Given the description of an element on the screen output the (x, y) to click on. 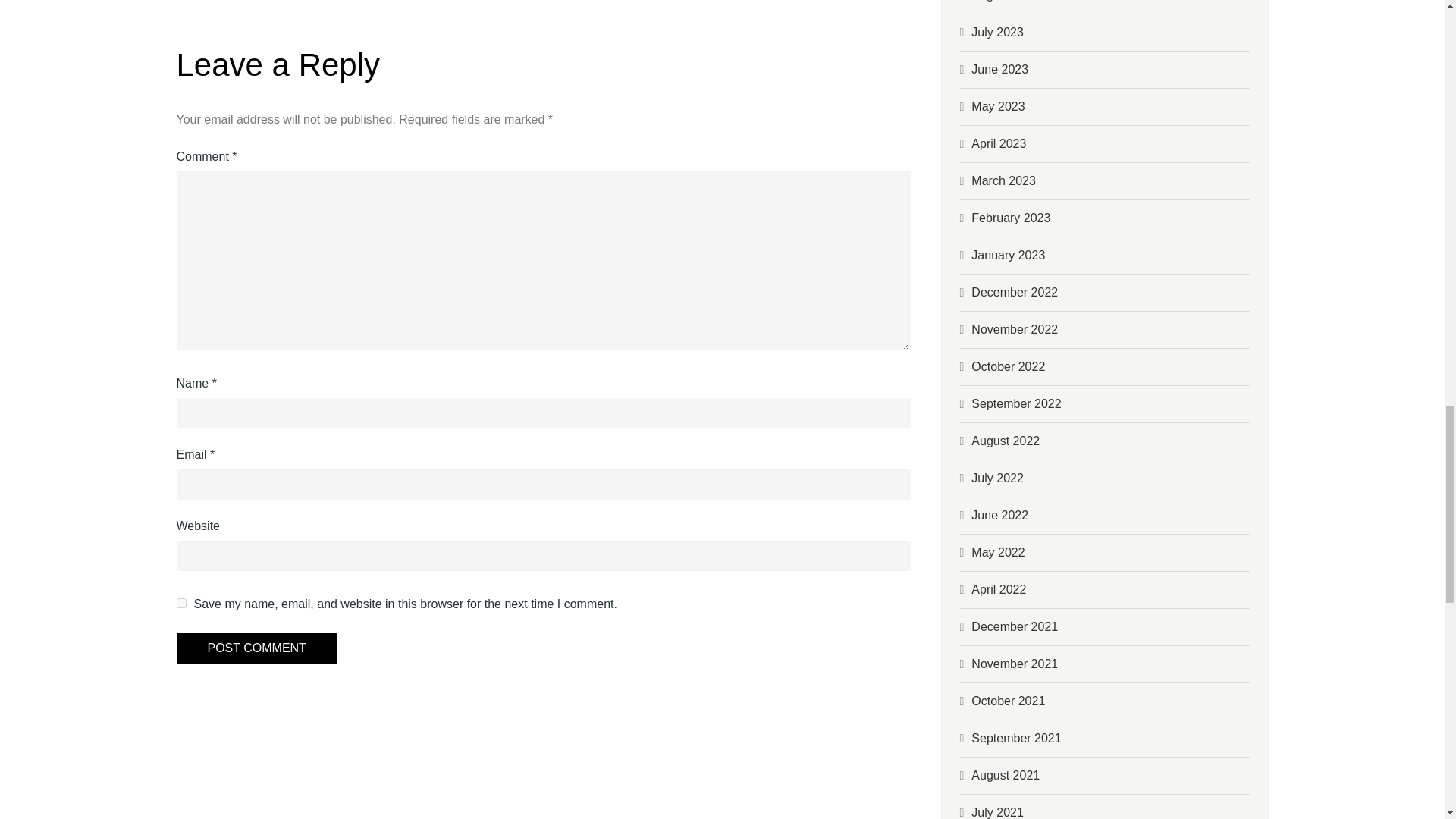
Post Comment (256, 648)
Post Comment (256, 648)
yes (181, 603)
May 2023 (998, 106)
June 2023 (999, 69)
August 2023 (1005, 0)
July 2023 (997, 31)
April 2023 (998, 143)
